Given the description of an element on the screen output the (x, y) to click on. 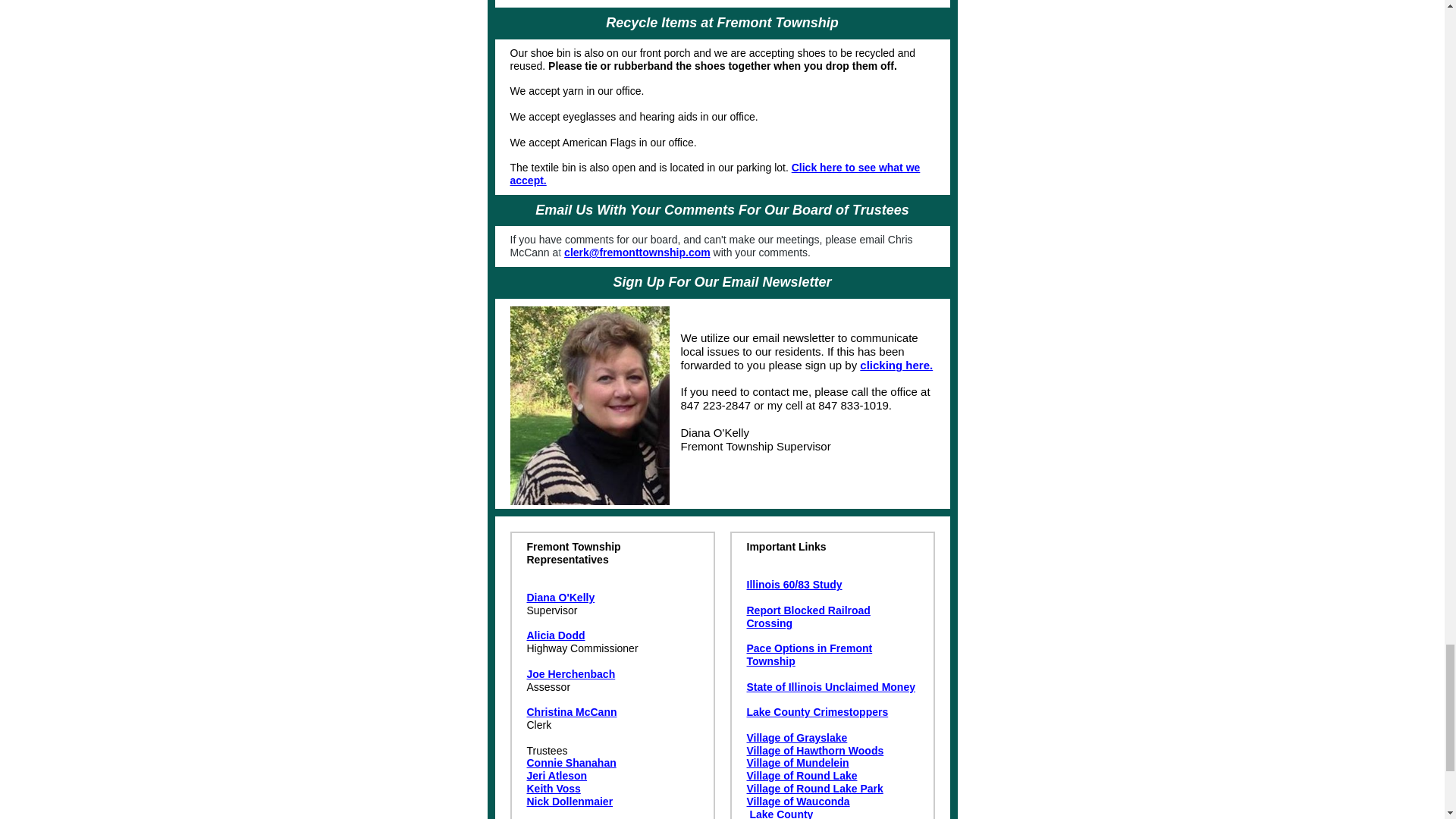
Village of Round Lake Park (813, 788)
Report Blocked Railroad Crossing (807, 616)
Lake County Crimestoppers (816, 711)
State of Illinois Unclaimed Money (829, 686)
clicking here. (896, 364)
Connie Shanahan (570, 762)
Diana O'Kelly (559, 597)
Lake County (780, 813)
Village of Hawthorn Woods (814, 750)
Click here to see what we accept. (714, 173)
Alicia Dodd (555, 635)
Village of Wauconda (796, 801)
Village of Mundelein (796, 762)
Joe Herchenbach (569, 674)
Jeri Atleson (555, 775)
